Given the description of an element on the screen output the (x, y) to click on. 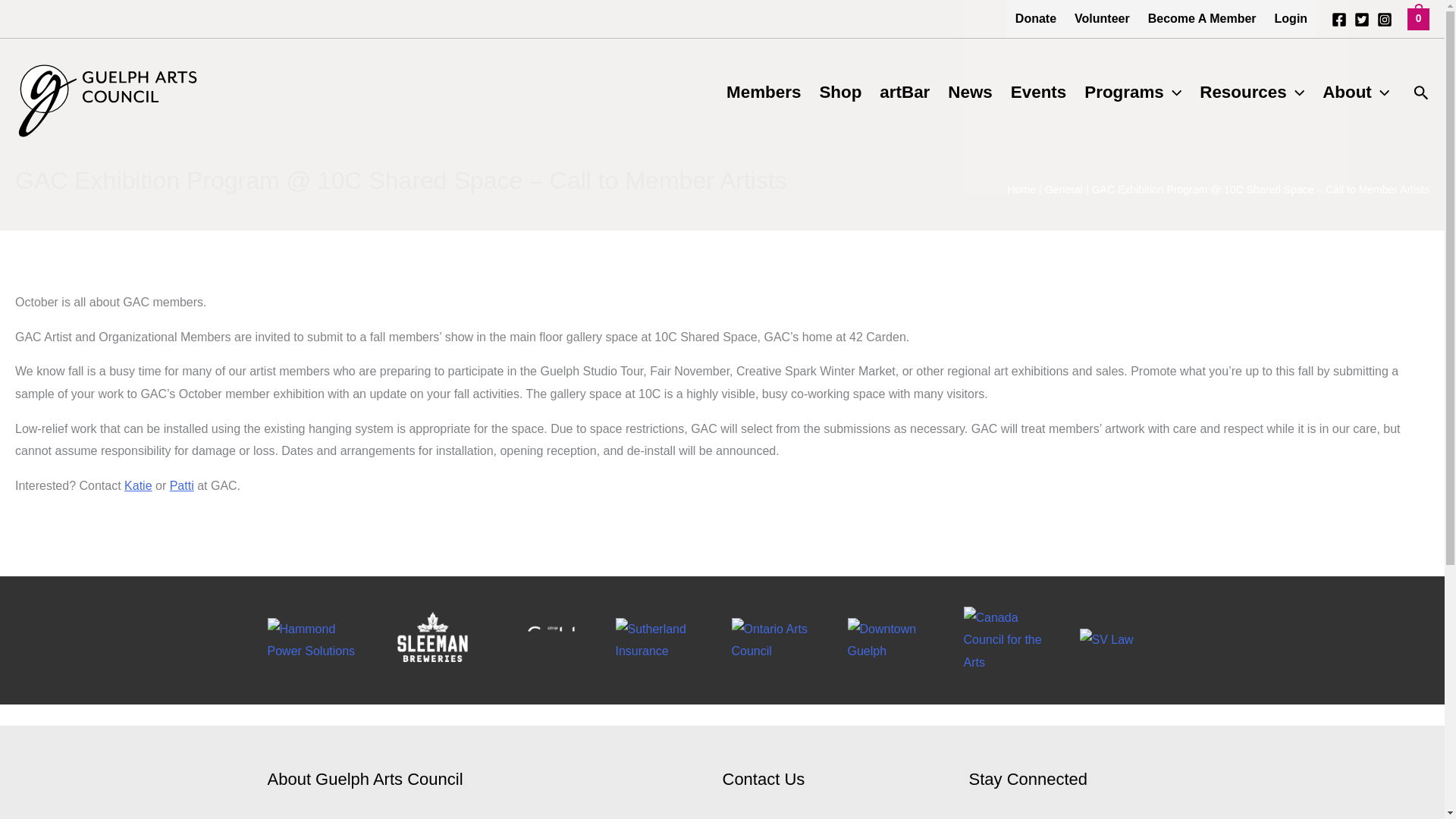
News (970, 92)
Volunteer (1101, 18)
Shop (839, 92)
Donate (1035, 18)
artBar (904, 92)
Events (1038, 92)
Members (763, 92)
Resources (1252, 92)
Programs (1133, 92)
About (1355, 92)
